Given the description of an element on the screen output the (x, y) to click on. 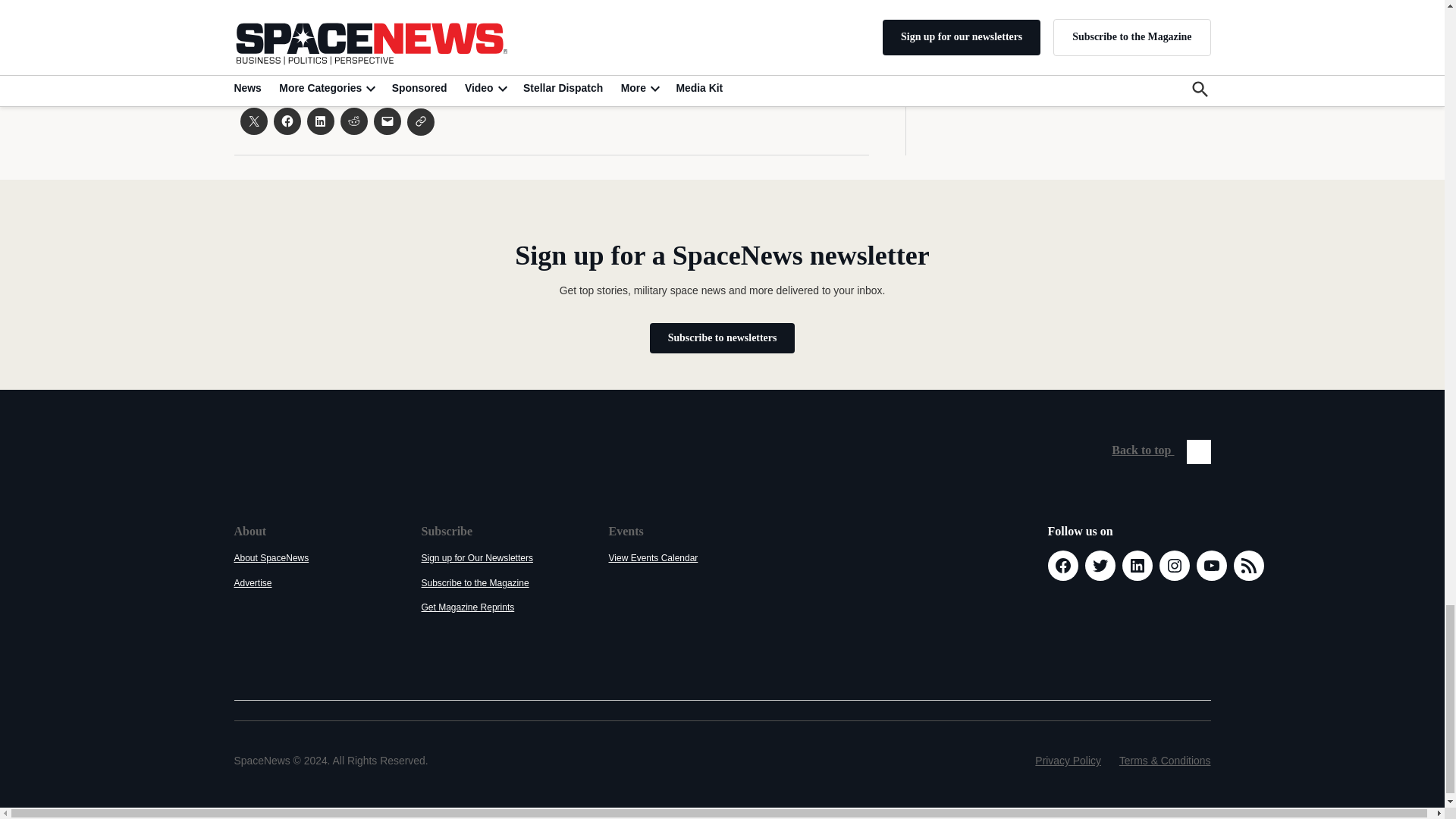
Click to share on Clipboard (419, 121)
Click to share on Facebook (286, 121)
Click to share on LinkedIn (319, 121)
Click to share on X (253, 121)
Click to email a link to a friend (386, 121)
Click to share on Reddit (352, 121)
